Given the description of an element on the screen output the (x, y) to click on. 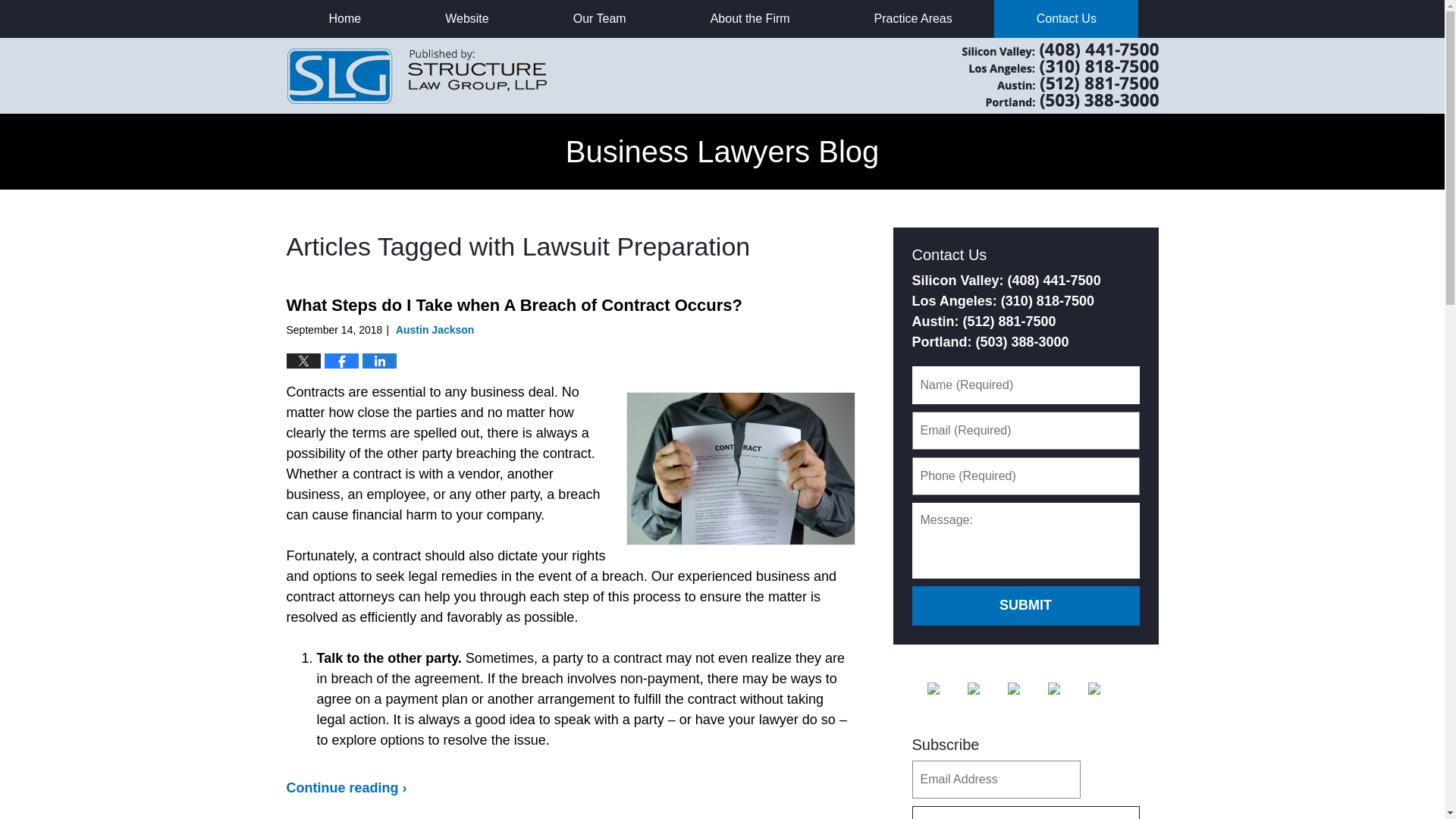
What Steps do I Take when A Breach of Contract Occurs? (514, 304)
Austin Jackson (435, 329)
About the Firm (749, 18)
Practice Areas (912, 18)
SUBSCRIBE (1024, 812)
Business Lawyers Blog (416, 75)
Website (467, 18)
Twitter (986, 688)
